Given the description of an element on the screen output the (x, y) to click on. 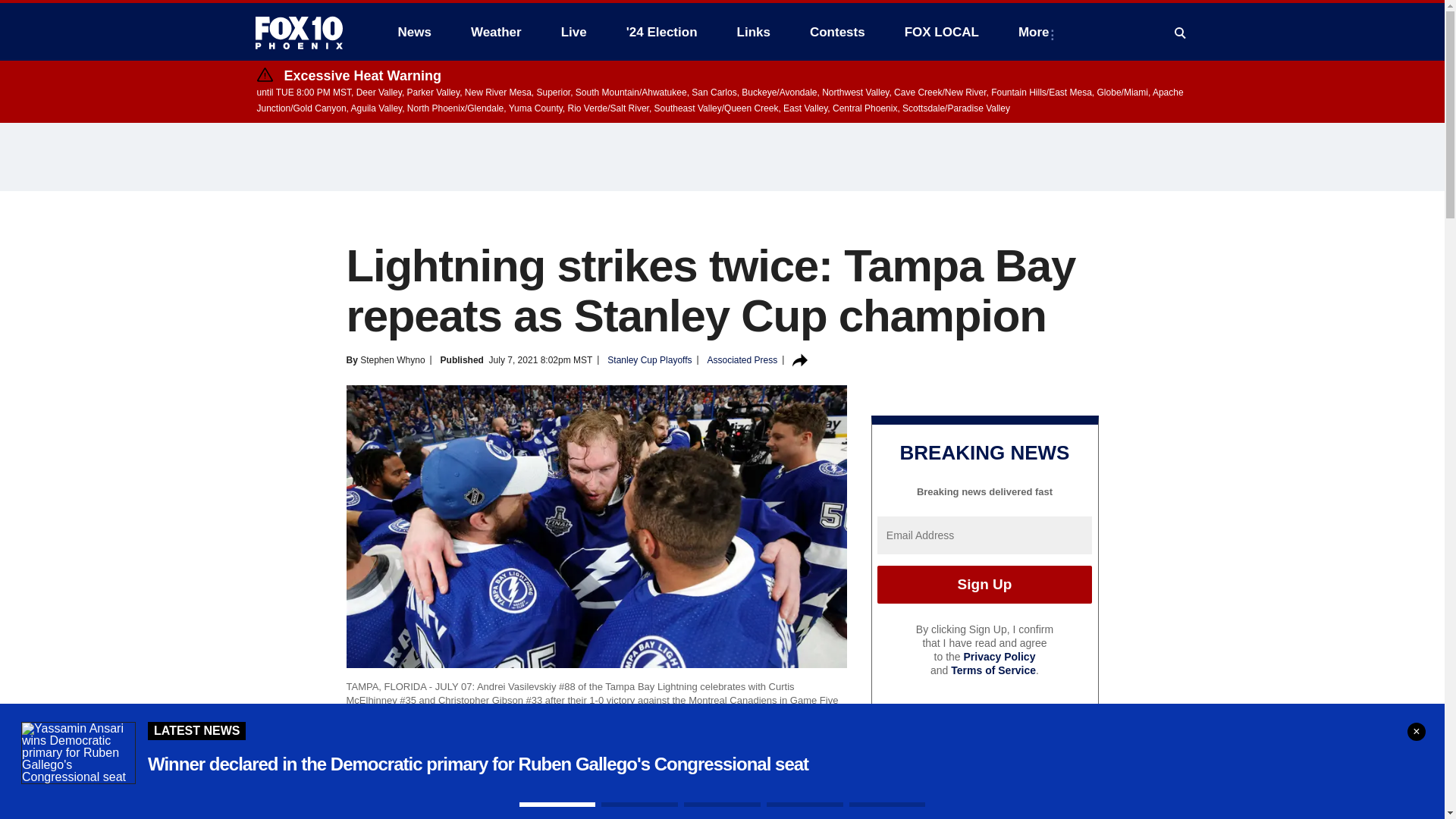
Links (754, 32)
Live (573, 32)
News (413, 32)
FOX LOCAL (941, 32)
Weather (496, 32)
More (1036, 32)
'24 Election (662, 32)
Contests (837, 32)
Sign Up (984, 584)
